Given the description of an element on the screen output the (x, y) to click on. 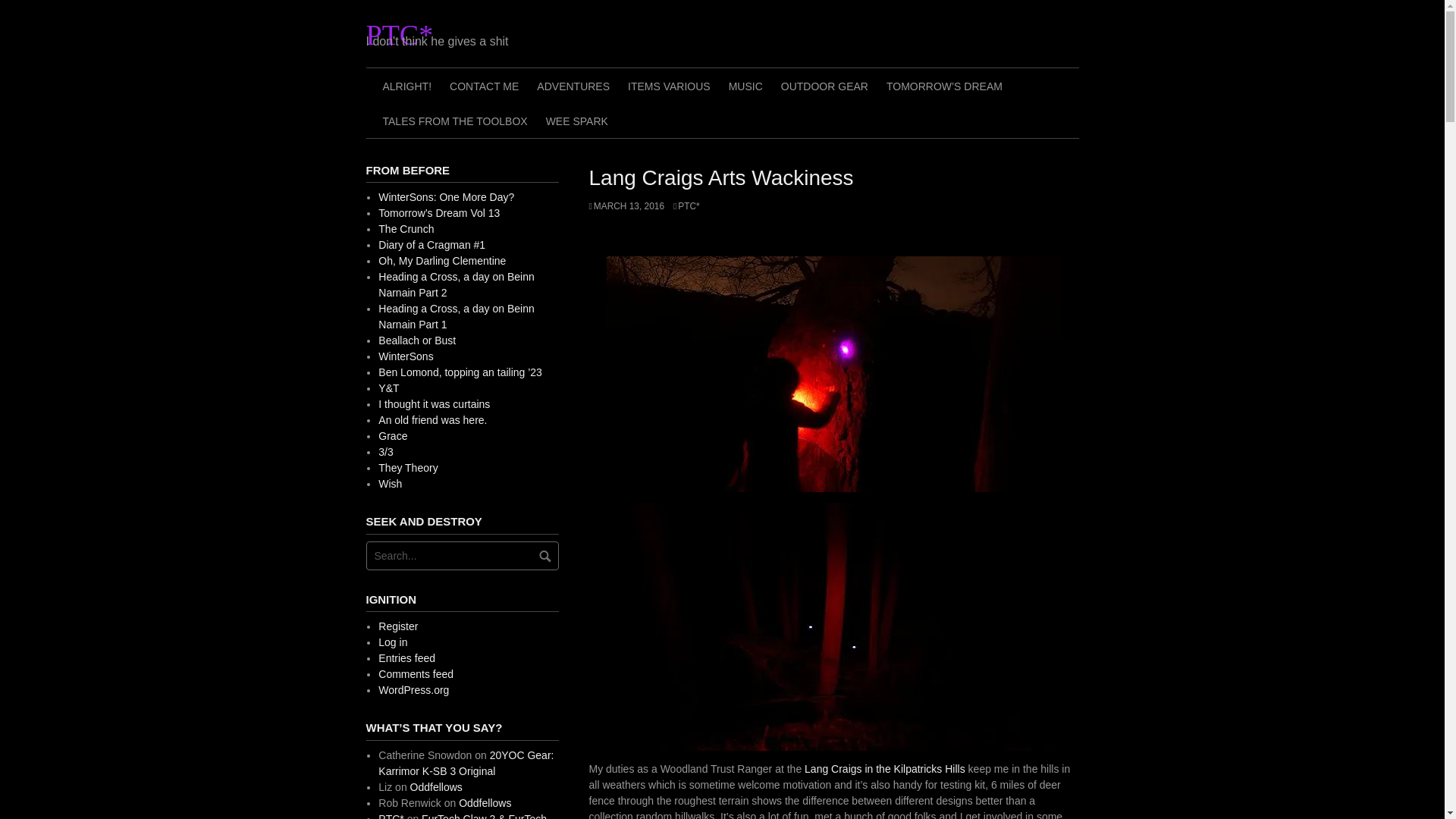
OUTDOOR GEAR (824, 85)
MARCH 13, 2016 (625, 205)
ADVENTURES (572, 85)
They Theory (408, 467)
Heading a Cross, a day on Beinn Narnain Part 1 (456, 316)
ALRIGHT! (406, 85)
WinterSons: One More Day? (445, 196)
Grace (392, 435)
Oh, My Darling Clementine (441, 260)
MUSIC (745, 85)
An old friend was here. (432, 419)
Lang Craigs in the Kilpatricks Hills (885, 768)
WEE SPARK (577, 120)
CONTACT ME (484, 85)
Heading a Cross, a day on Beinn Narnain Part 2 (456, 284)
